Given the description of an element on the screen output the (x, y) to click on. 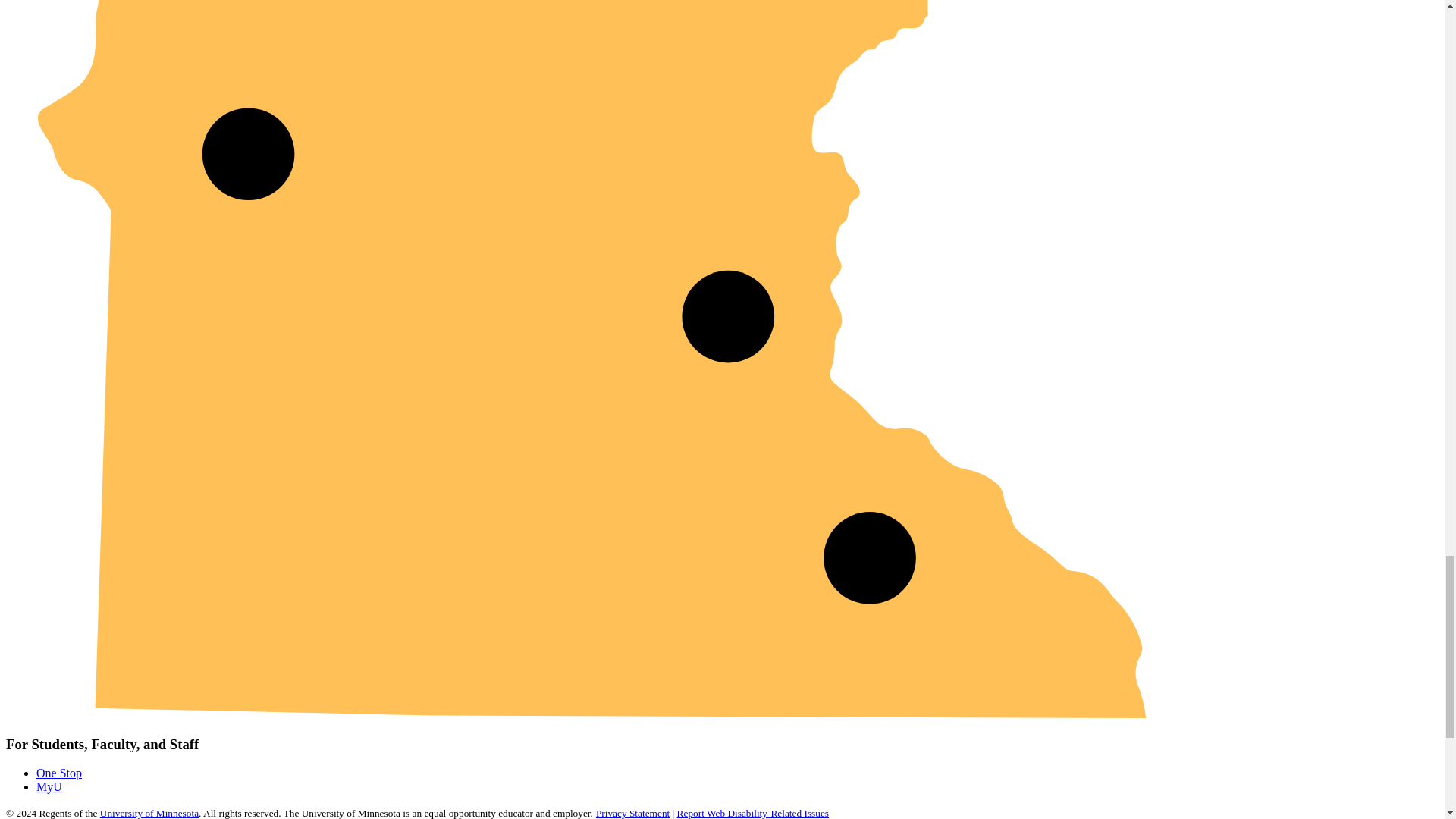
University of Minnesota Morris (248, 154)
University of Minnesota Twin Cities (727, 316)
University of Minnesota Rochester (869, 557)
